Given the description of an element on the screen output the (x, y) to click on. 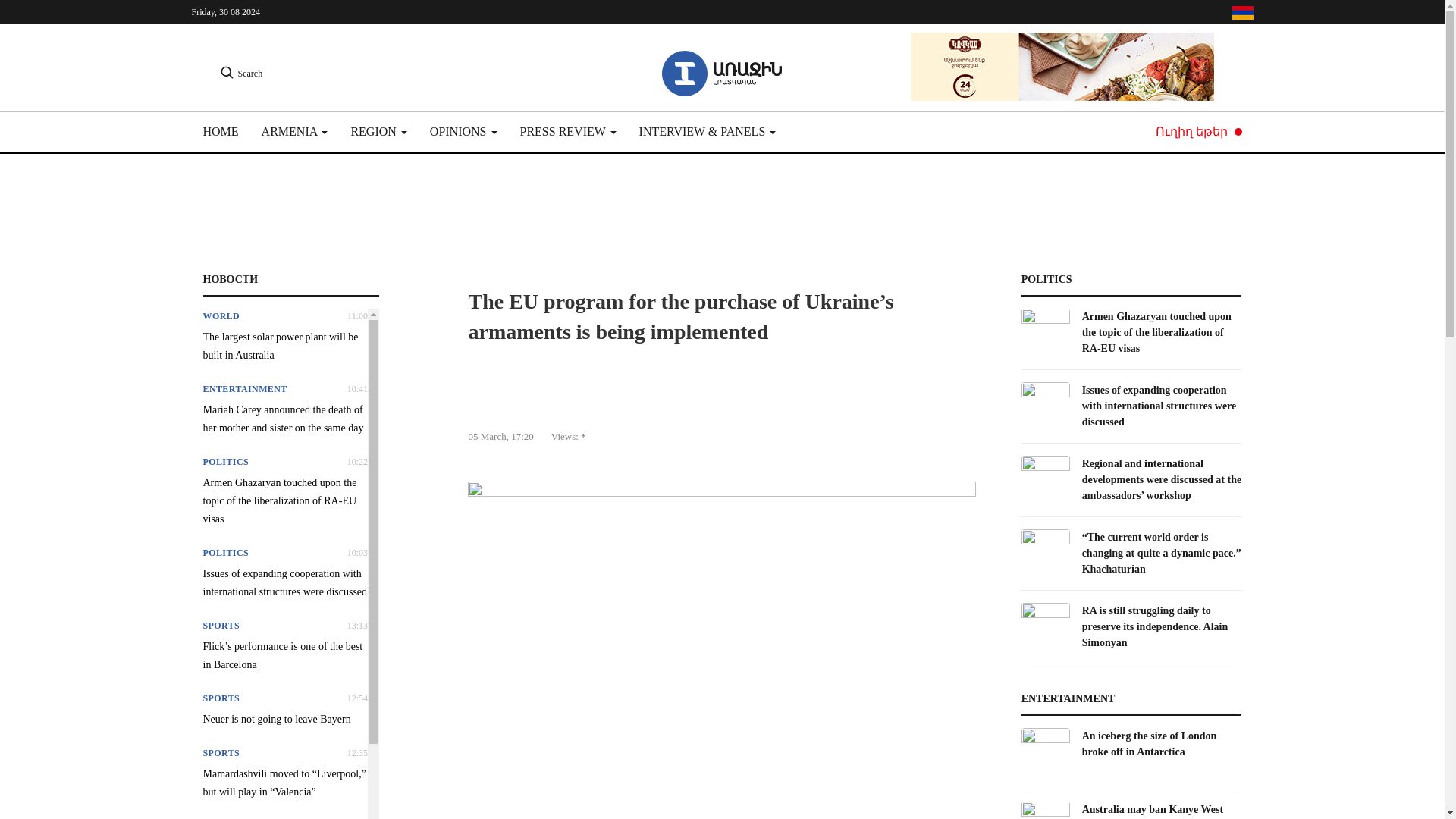
POLITICS (225, 461)
WORLD (221, 316)
ENTERTAINMENT (244, 388)
The largest solar power plant will be built in Australia (285, 346)
PRESS REVIEW (567, 132)
OPINIONS (463, 132)
POLITICS (225, 552)
HOME (226, 132)
